Given the description of an element on the screen output the (x, y) to click on. 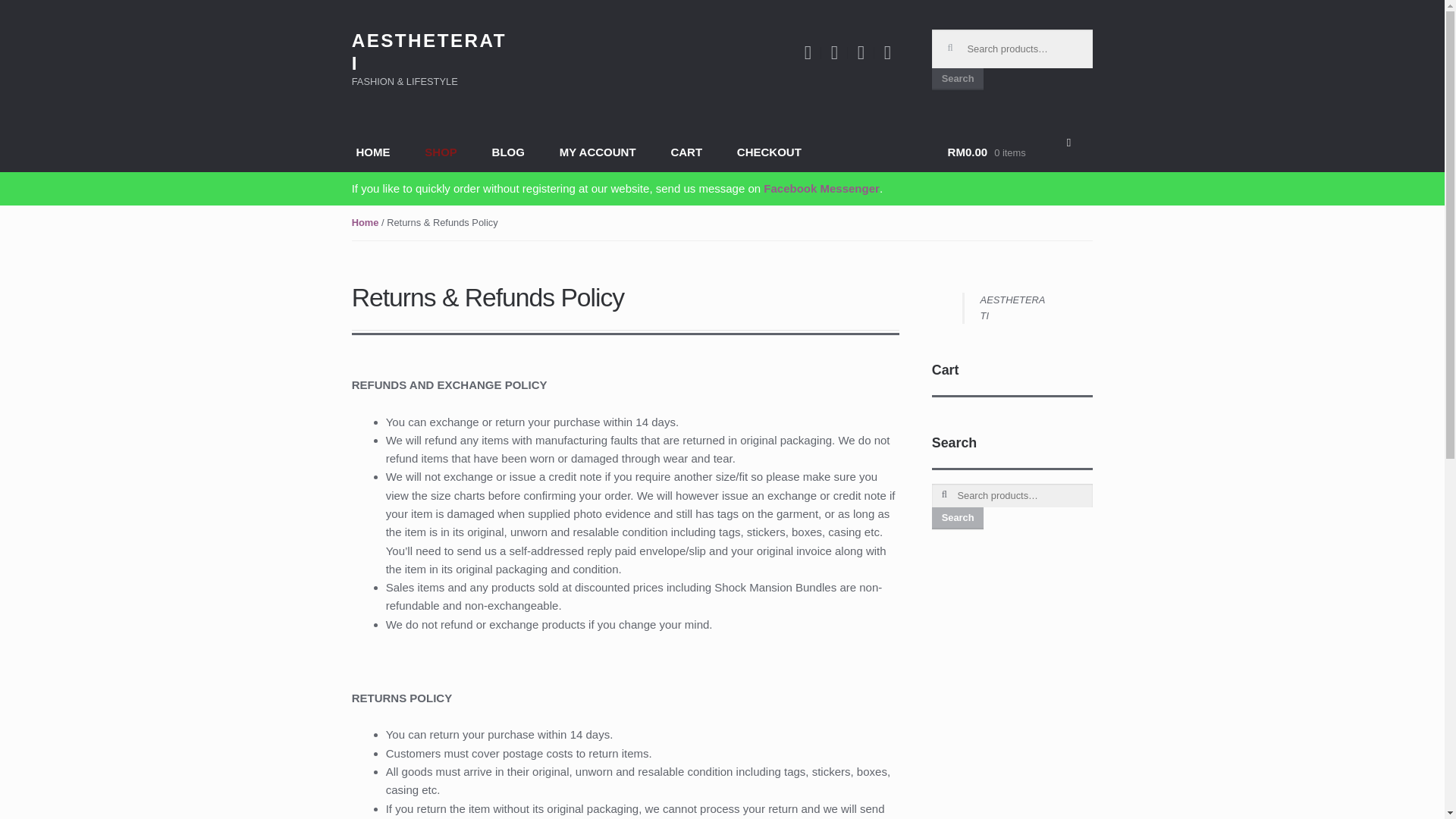
Search (957, 78)
SHOP (440, 152)
Message AESTHETERATI (820, 187)
AESTHETERATI (1012, 307)
Home (365, 222)
CART (686, 152)
MY ACCOUNT (596, 152)
Facebook Messenger (820, 187)
Search (957, 517)
